Given the description of an element on the screen output the (x, y) to click on. 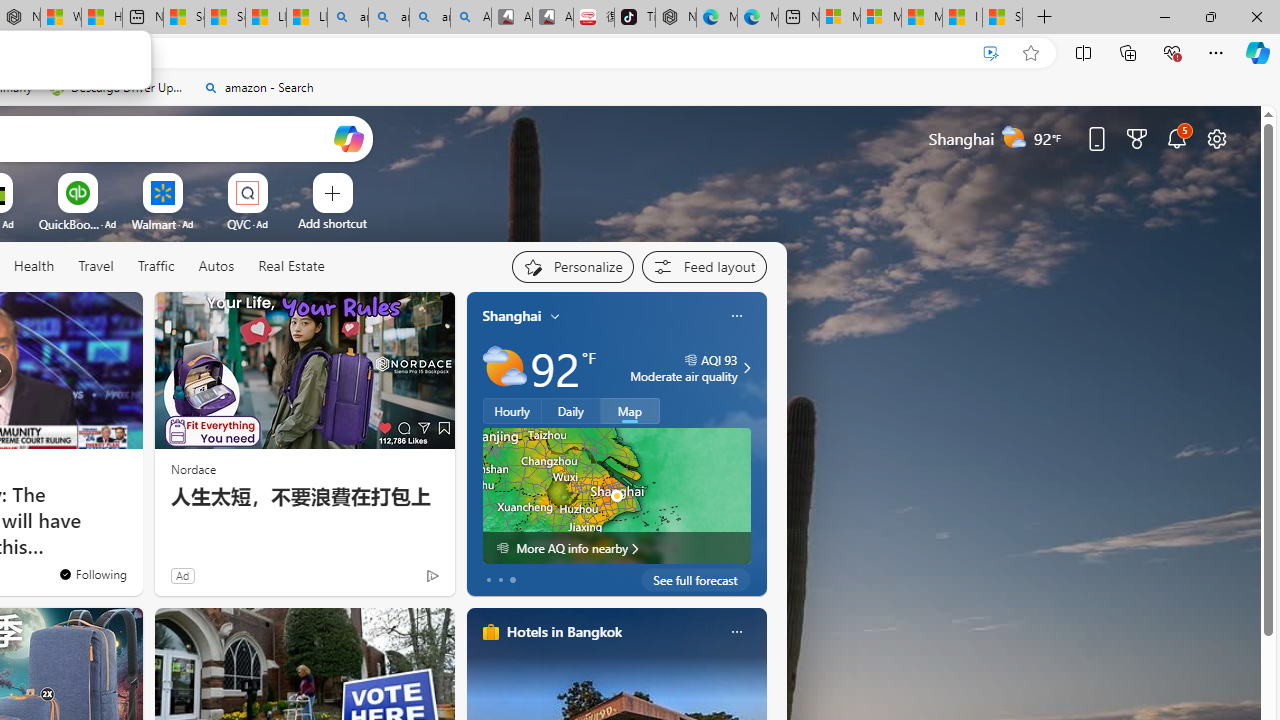
Microsoft rewards (1137, 138)
Split screen (1083, 52)
Enhance video (991, 53)
Hourly (511, 411)
Add this page to favorites (Ctrl+D) (1030, 53)
Partly sunny (504, 368)
Personalize your feed" (571, 266)
Daily (571, 411)
Travel (95, 265)
amazon - Search (258, 88)
Feed settings (703, 266)
My location (555, 315)
You're following The Weather Channel (390, 579)
